Given the description of an element on the screen output the (x, y) to click on. 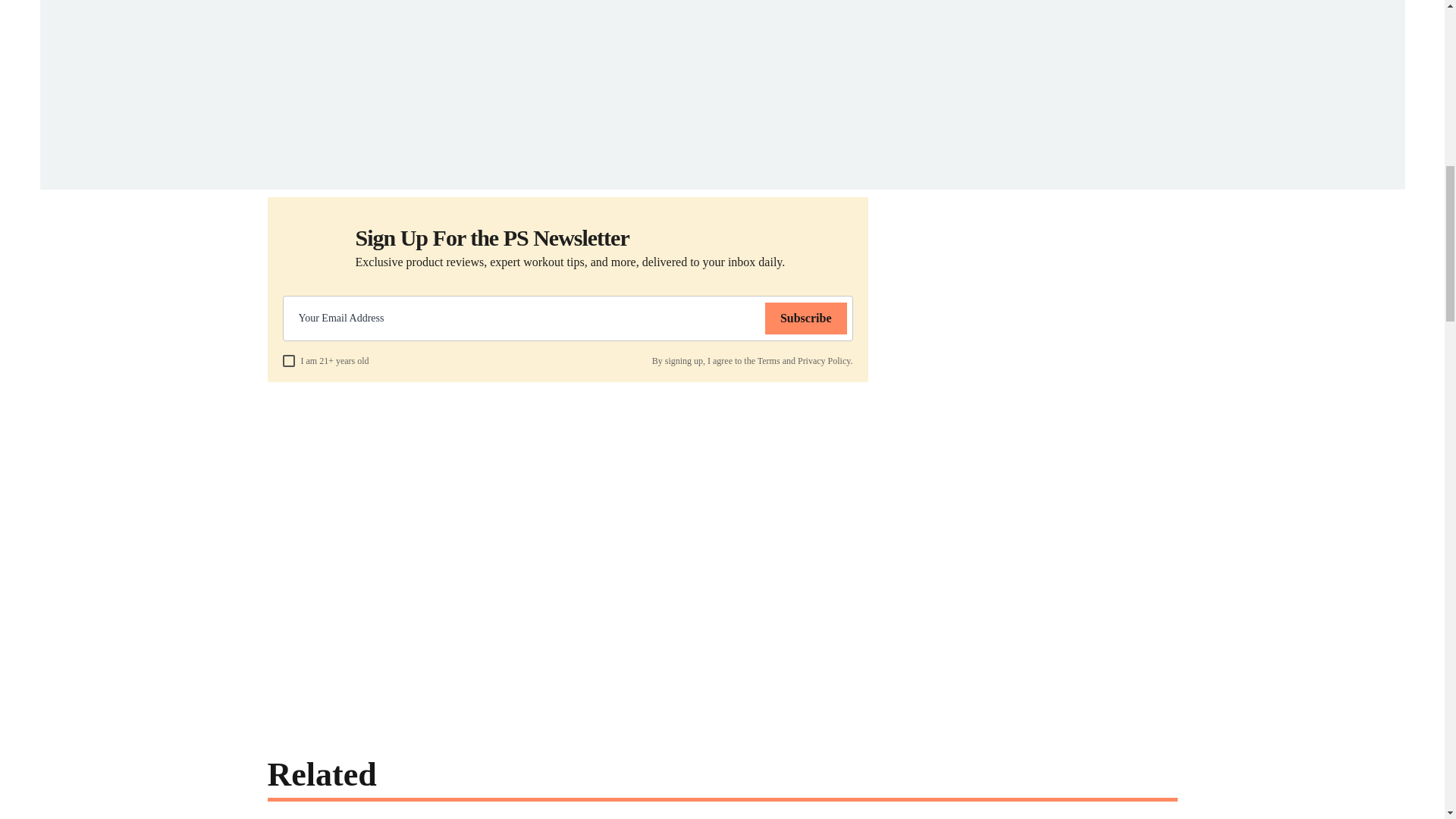
ANIMAL VIDEOS (629, 160)
Terms (768, 360)
Subscribe (806, 318)
Privacy Policy. (825, 360)
JOHN C. REILLY (552, 160)
CATS (429, 160)
ANIMAL HUMOR (373, 160)
WILL FERRELL (297, 160)
TIKTOK (691, 160)
VIRAL VIDEOS (479, 160)
